Given the description of an element on the screen output the (x, y) to click on. 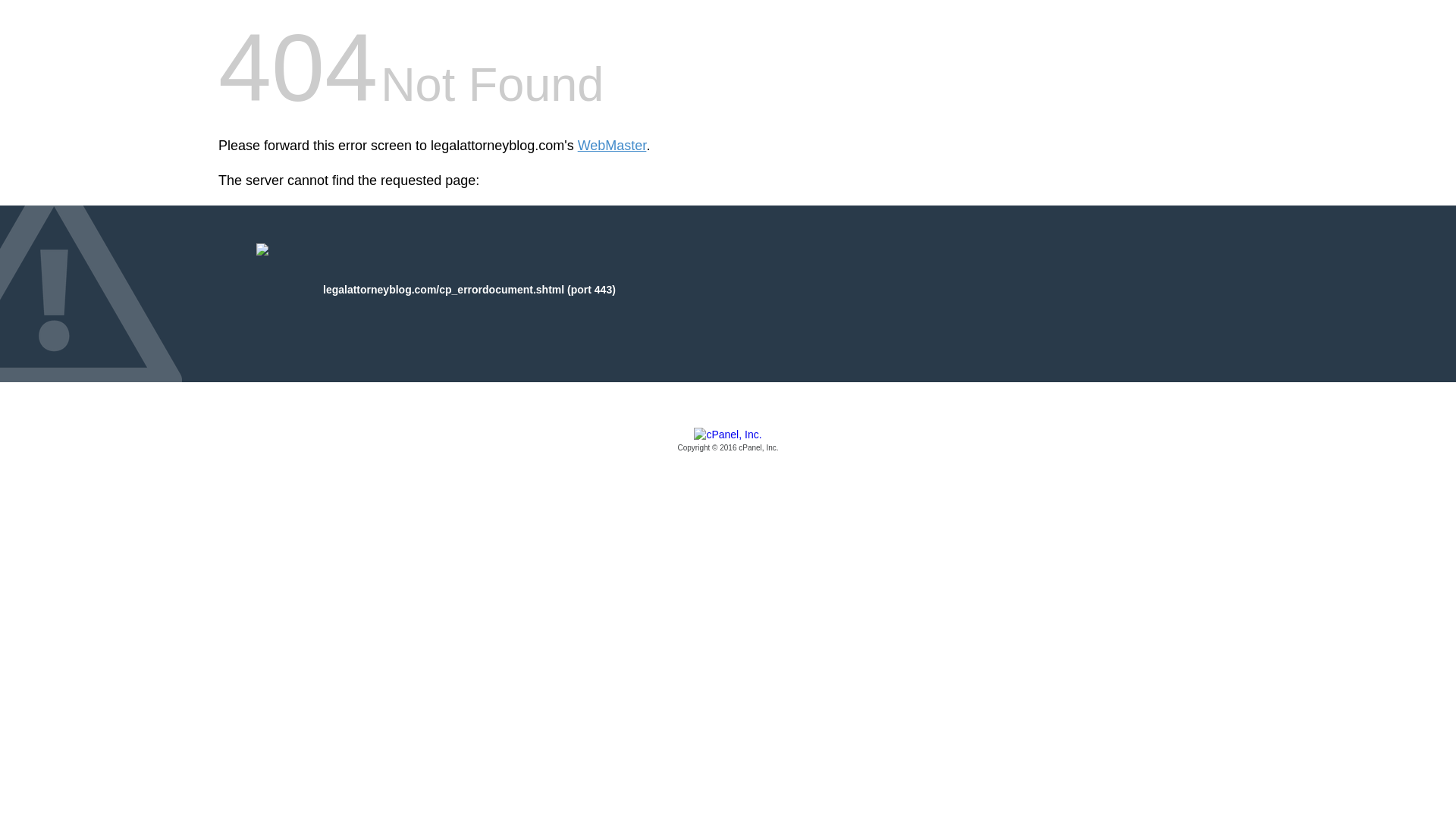
cPanel, Inc. (727, 440)
WebMaster (612, 145)
